Given the description of an element on the screen output the (x, y) to click on. 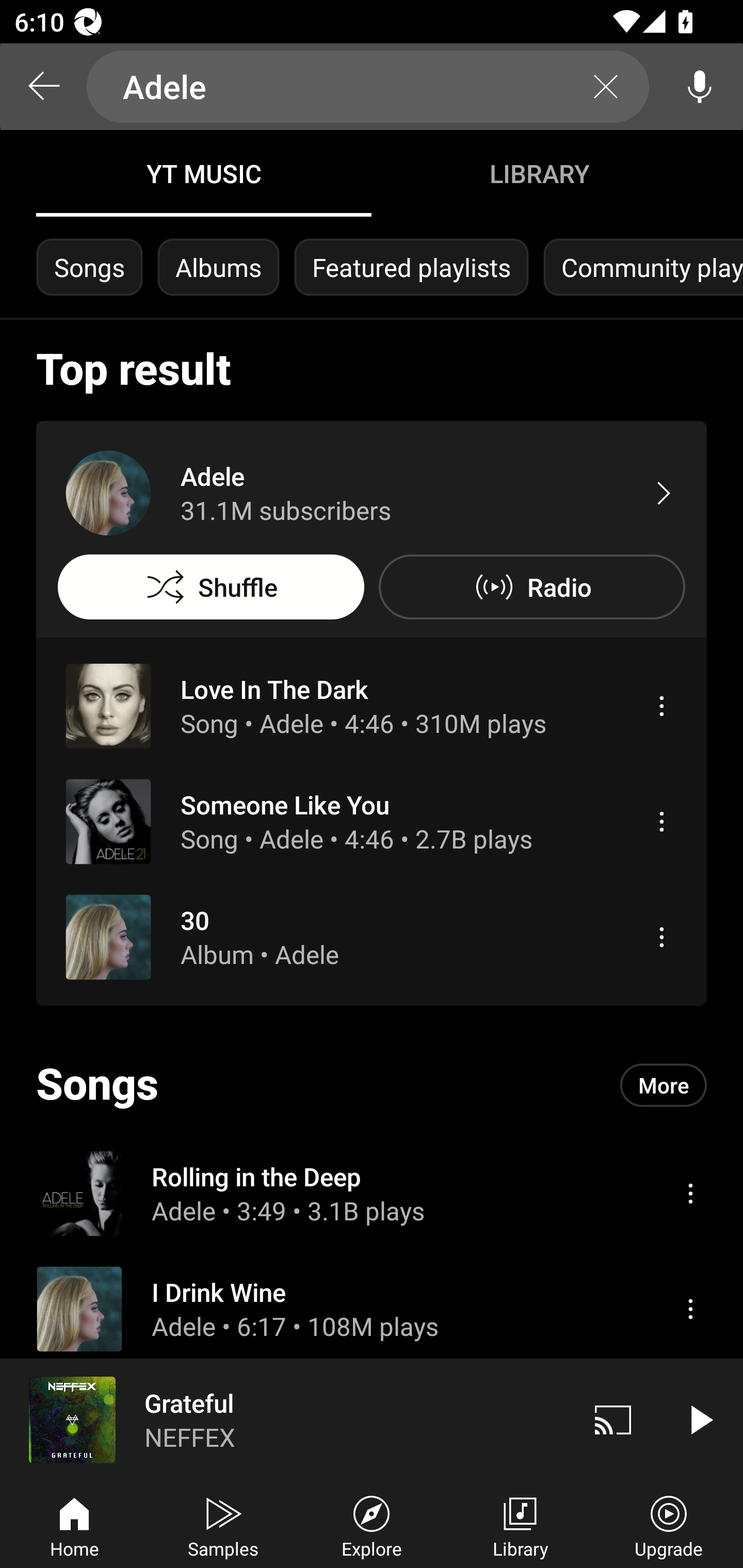
Search back (43, 86)
Adele (367, 86)
Clear search (605, 86)
Voice search (699, 86)
Library LIBRARY (538, 173)
Shuffle (210, 587)
Radio (531, 587)
Menu (661, 705)
Menu (661, 821)
Menu (661, 937)
Songs More More (371, 1084)
More (663, 1085)
Menu (690, 1193)
Menu (690, 1309)
Grateful NEFFEX (284, 1419)
Cast. Disconnected (612, 1419)
Play video (699, 1419)
Home (74, 1524)
Samples (222, 1524)
Explore (371, 1524)
Library (519, 1524)
Upgrade (668, 1524)
